Given the description of an element on the screen output the (x, y) to click on. 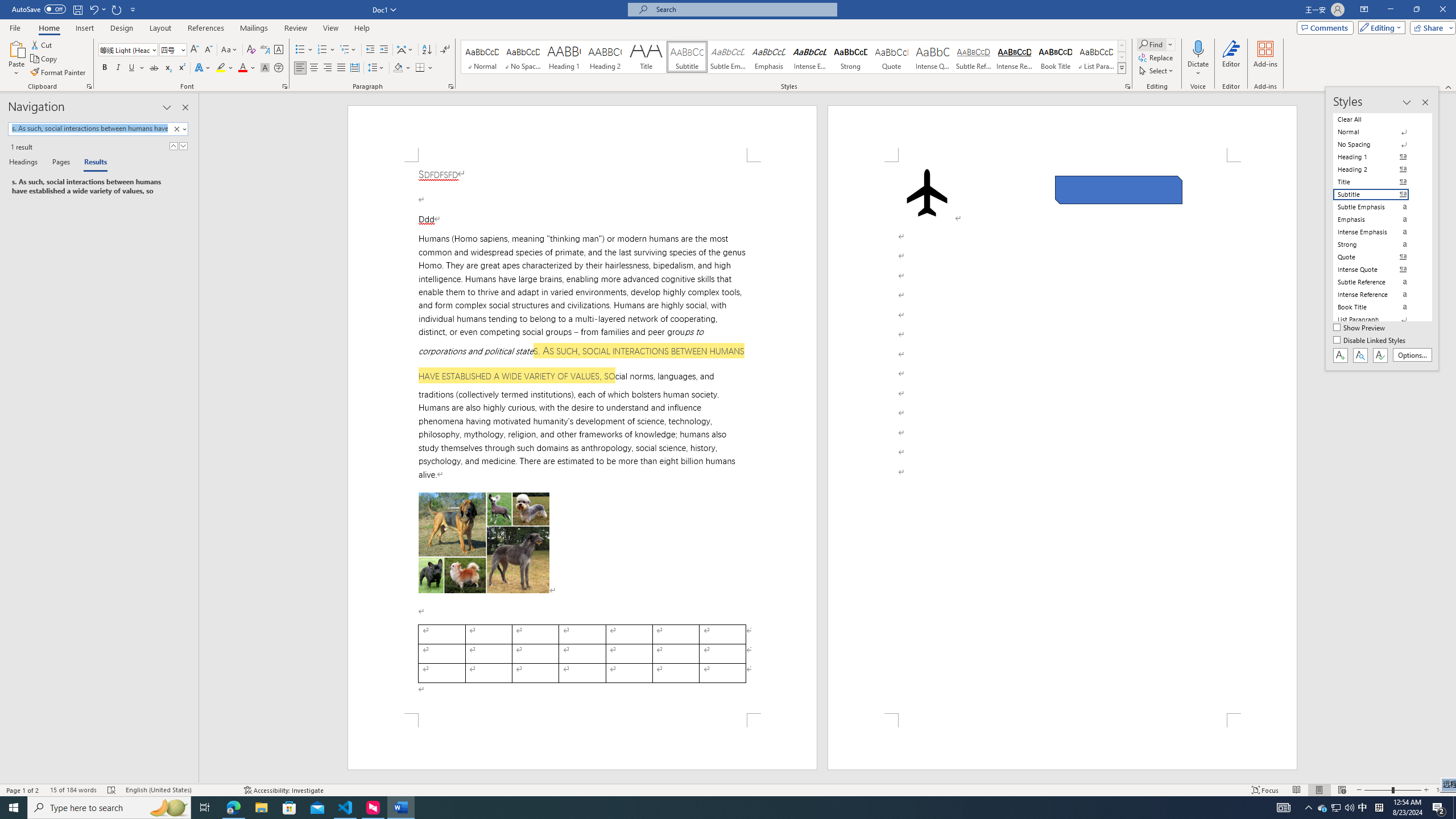
Repeat Style (117, 9)
Word Count 15 of 184 words (73, 790)
Zoom 104% (1443, 790)
Subtle Emphasis (727, 56)
Clear (176, 128)
